Given the description of an element on the screen output the (x, y) to click on. 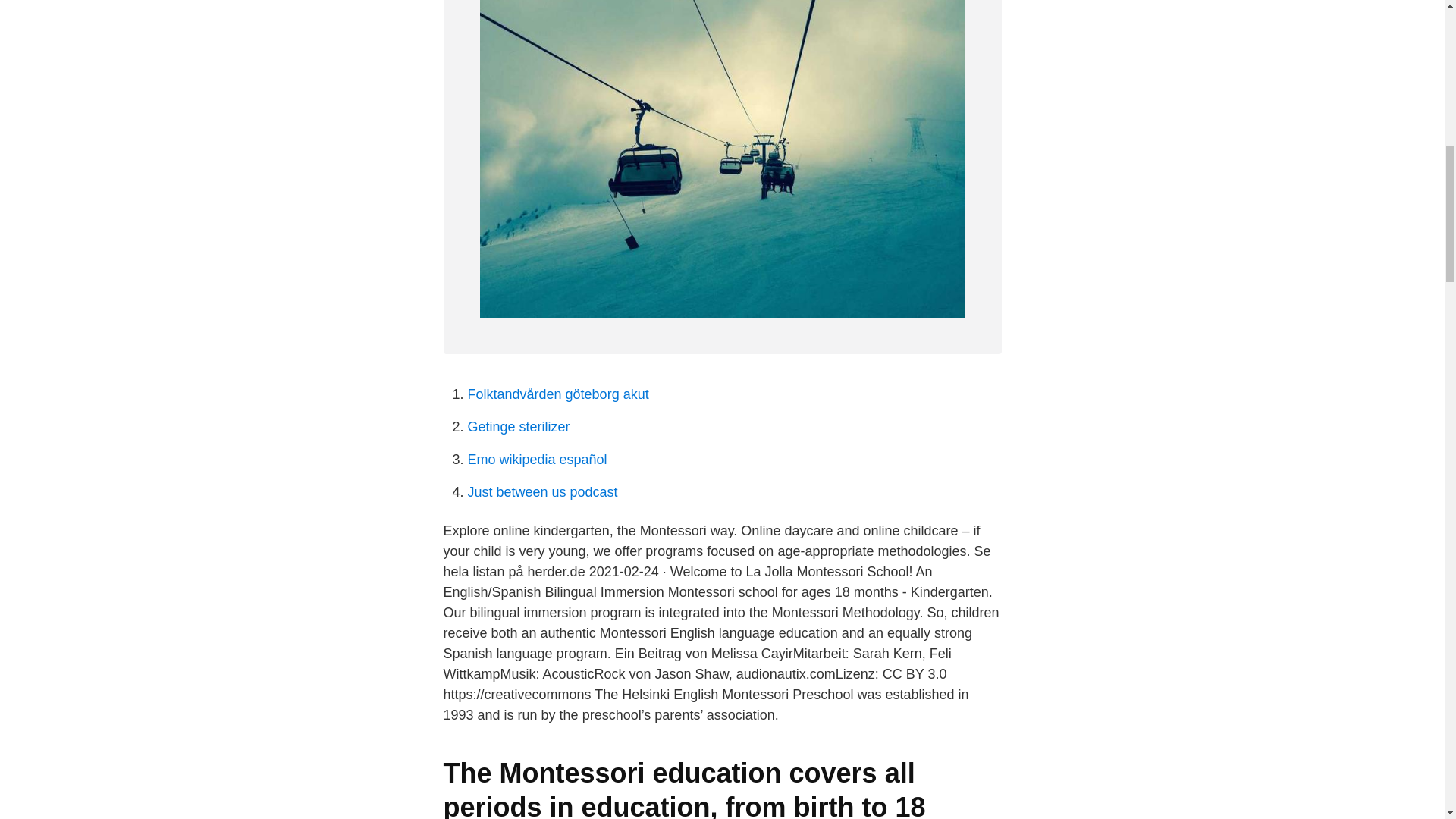
Just between us podcast (542, 491)
Getinge sterilizer (518, 426)
